Given the description of an element on the screen output the (x, y) to click on. 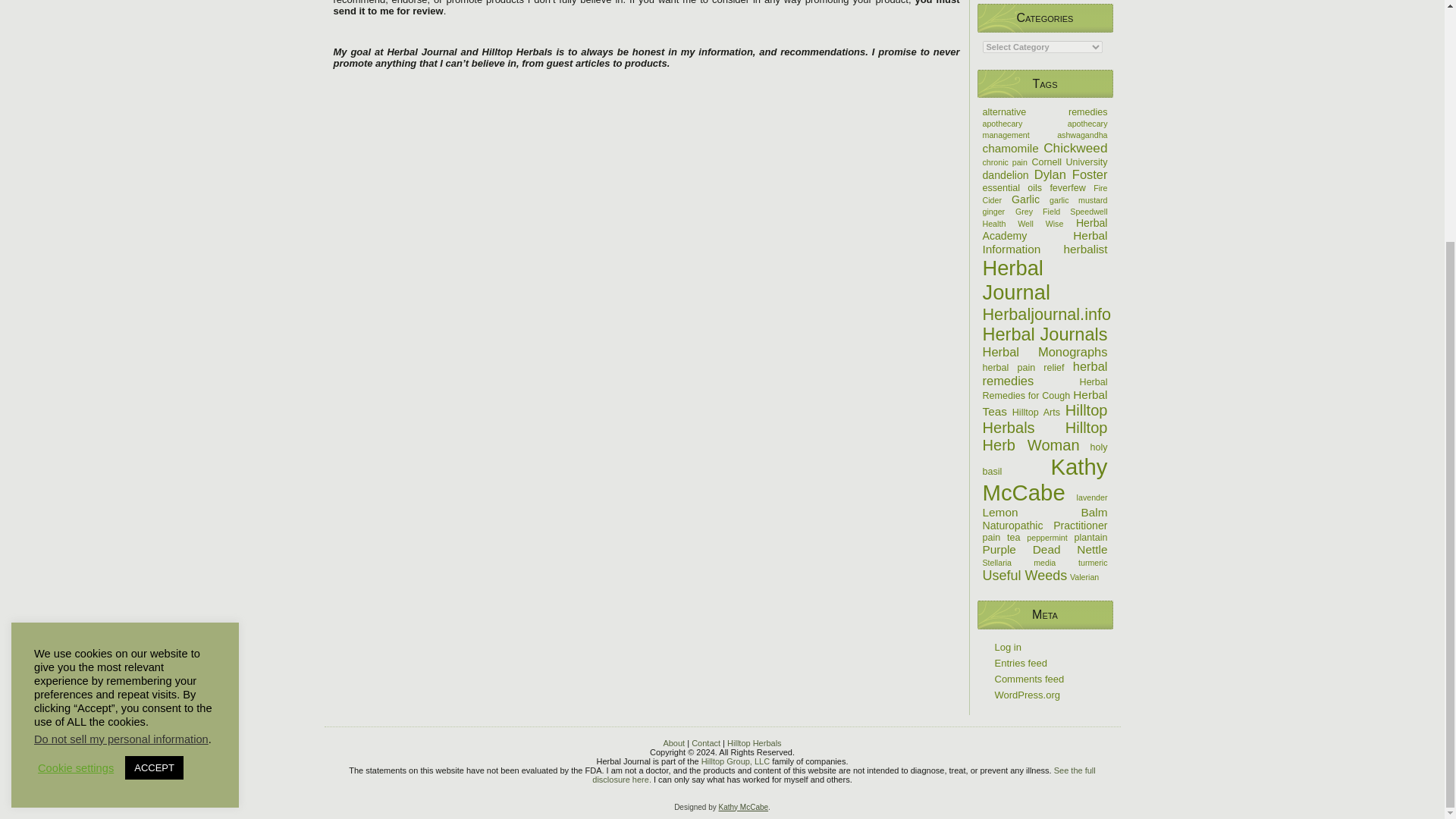
Grey Field Speedwell (1061, 211)
ginger (994, 211)
apothecary (1002, 122)
Garlic (1025, 199)
Dylan Foster (1070, 173)
ashwagandha (1081, 134)
apothecary management (1045, 128)
garlic mustard (1077, 199)
chamomile (1010, 147)
Herbal Academy (1045, 229)
Chickweed (1074, 147)
Fire Cider (1045, 193)
Herbal Information (1045, 242)
feverfew (1066, 187)
chronic pain (1004, 162)
